Given the description of an element on the screen output the (x, y) to click on. 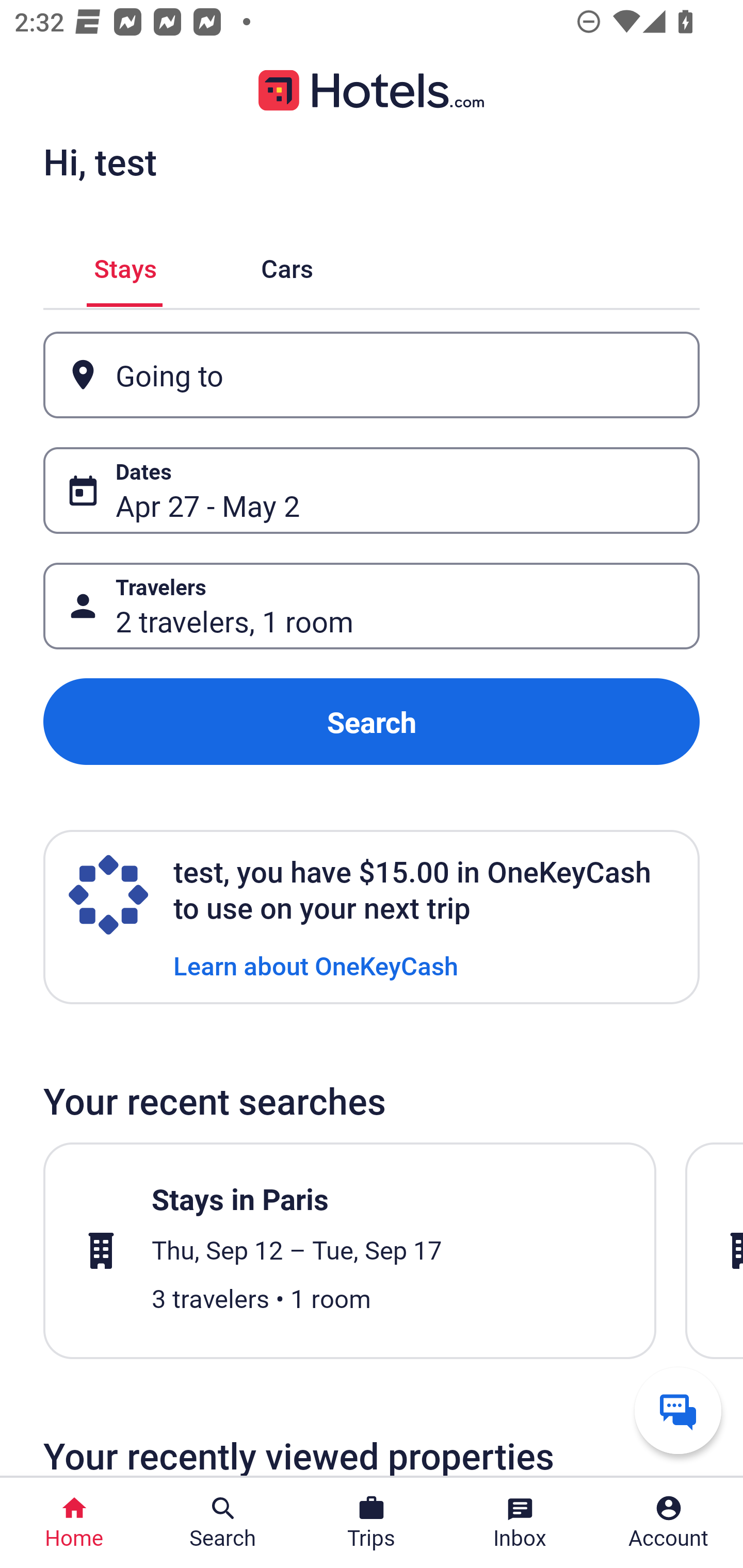
Hi, test (99, 161)
Cars (286, 265)
Going to Button (371, 375)
Dates Button Apr 27 - May 2 (371, 489)
Travelers Button 2 travelers, 1 room (371, 605)
Search (371, 721)
Learn about OneKeyCash Learn about OneKeyCash Link (315, 964)
Get help from a virtual agent (677, 1410)
Search Search Button (222, 1522)
Trips Trips Button (371, 1522)
Inbox Inbox Button (519, 1522)
Account Profile. Button (668, 1522)
